Given the description of an element on the screen output the (x, y) to click on. 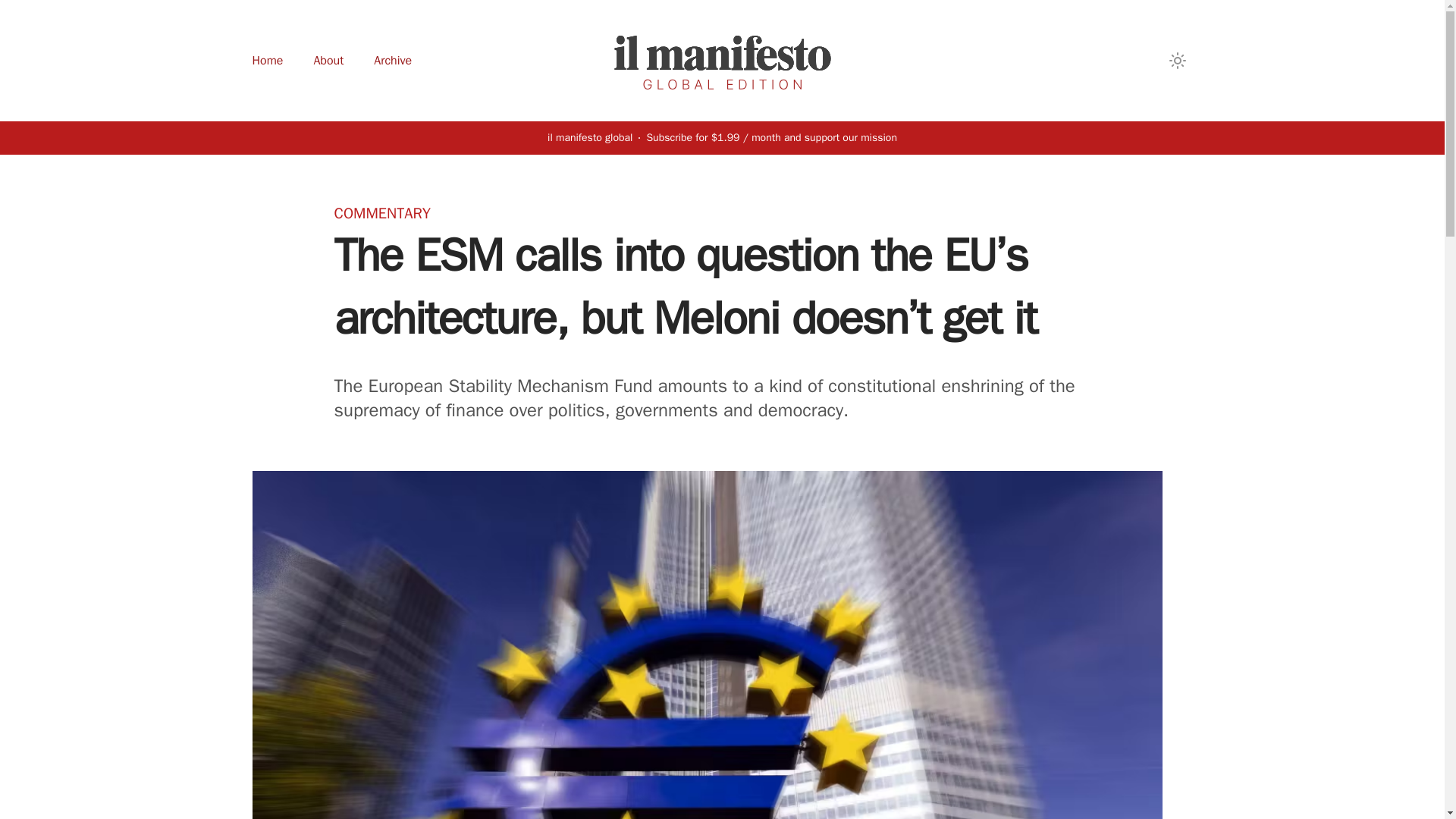
Archive (393, 60)
About (328, 60)
Home (266, 60)
